Given the description of an element on the screen output the (x, y) to click on. 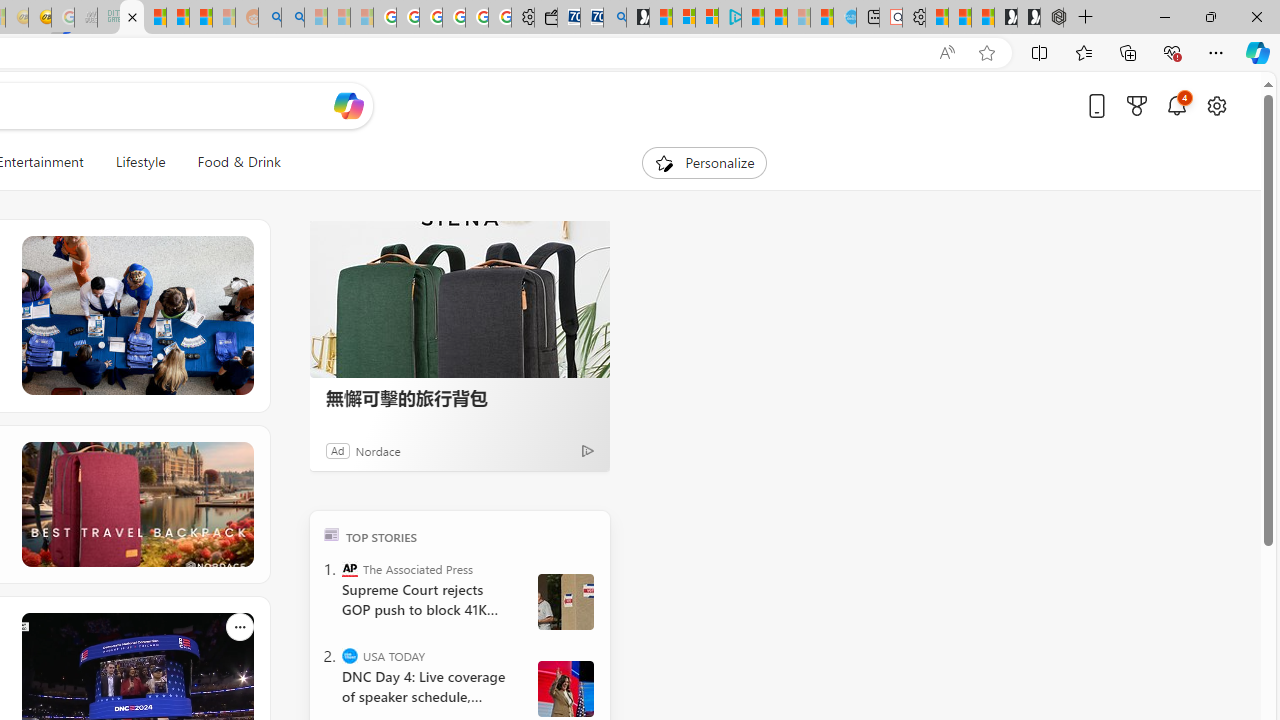
TOP (331, 534)
